Given the description of an element on the screen output the (x, y) to click on. 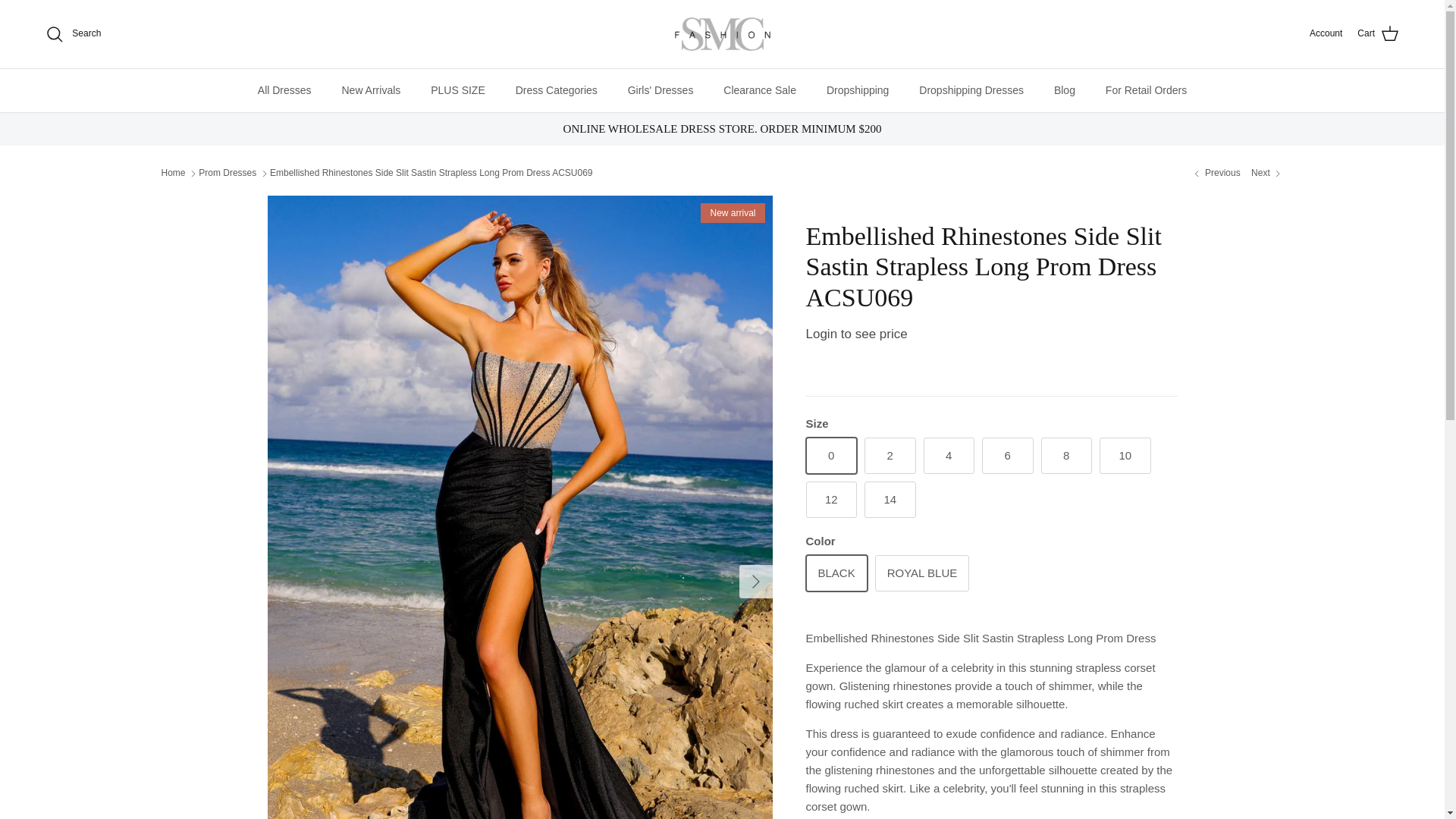
smcfashion.com (721, 34)
Search (72, 34)
Clearance Sale (759, 89)
Dropshipping Dresses (970, 89)
Account (1325, 33)
New Arrivals (370, 89)
Dropshipping (857, 89)
Girls' Dresses (660, 89)
